Given the description of an element on the screen output the (x, y) to click on. 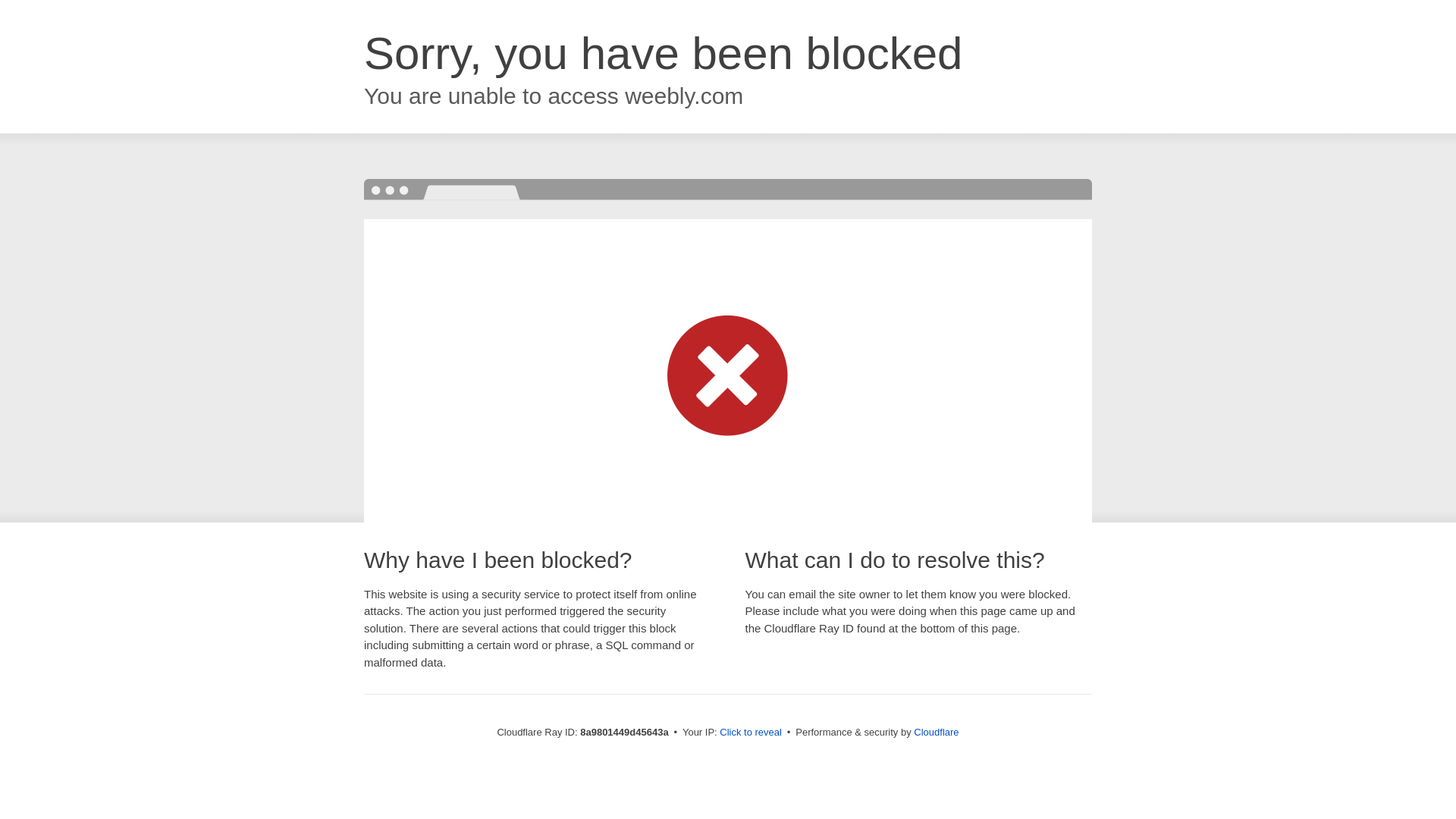
Cloudflare (936, 731)
Click to reveal (750, 732)
